Given the description of an element on the screen output the (x, y) to click on. 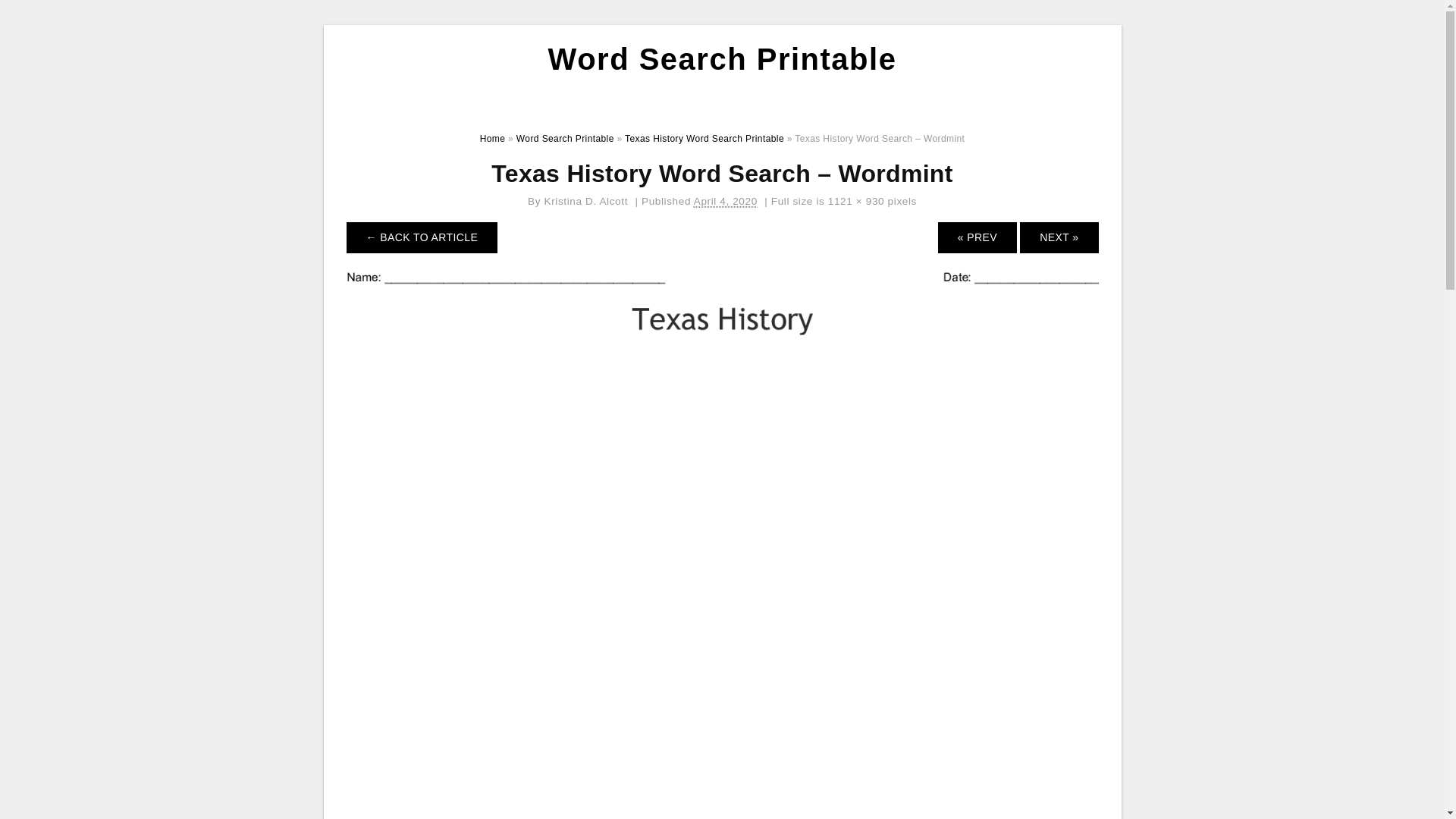
Return to Texas History Word Search Printable (421, 237)
Link to full-size image (855, 201)
Home (492, 138)
View all posts by Kristina D. Alcott (586, 201)
Word Search Printable (565, 138)
Word Search Printable (722, 59)
11:23 pm (725, 201)
Texas History Word Search Printable (704, 138)
Kristina D. Alcott (586, 201)
